Given the description of an element on the screen output the (x, y) to click on. 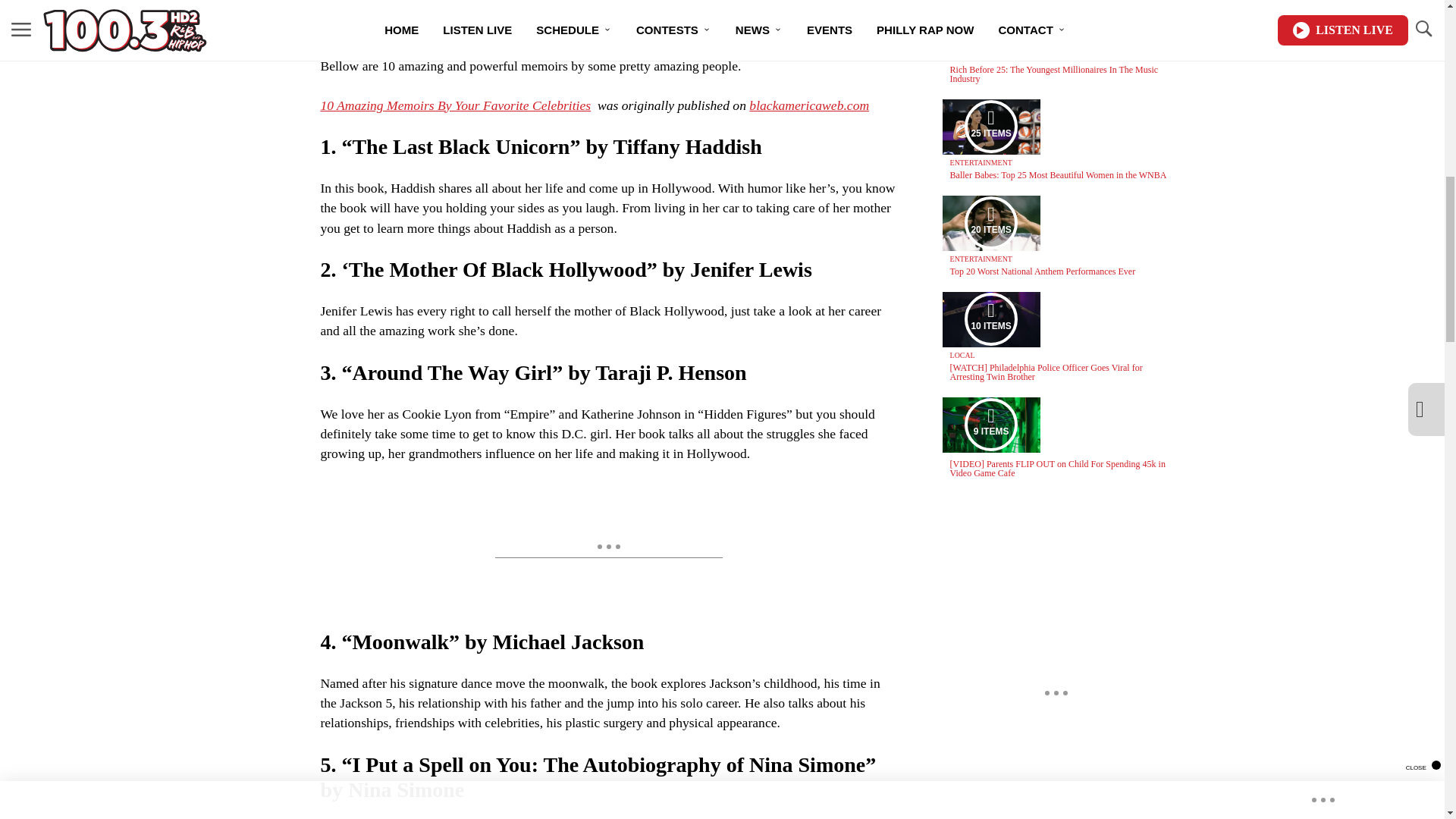
Media Playlist (990, 23)
10 Amazing Memoirs By Your Favorite Celebrities (455, 105)
11 ITEMS (991, 24)
blackamericaweb.com (809, 105)
Media Playlist (990, 222)
Media Playlist (990, 126)
ENTERTAINMENT (980, 57)
Media Playlist (990, 318)
Media Playlist (990, 424)
